Given the description of an element on the screen output the (x, y) to click on. 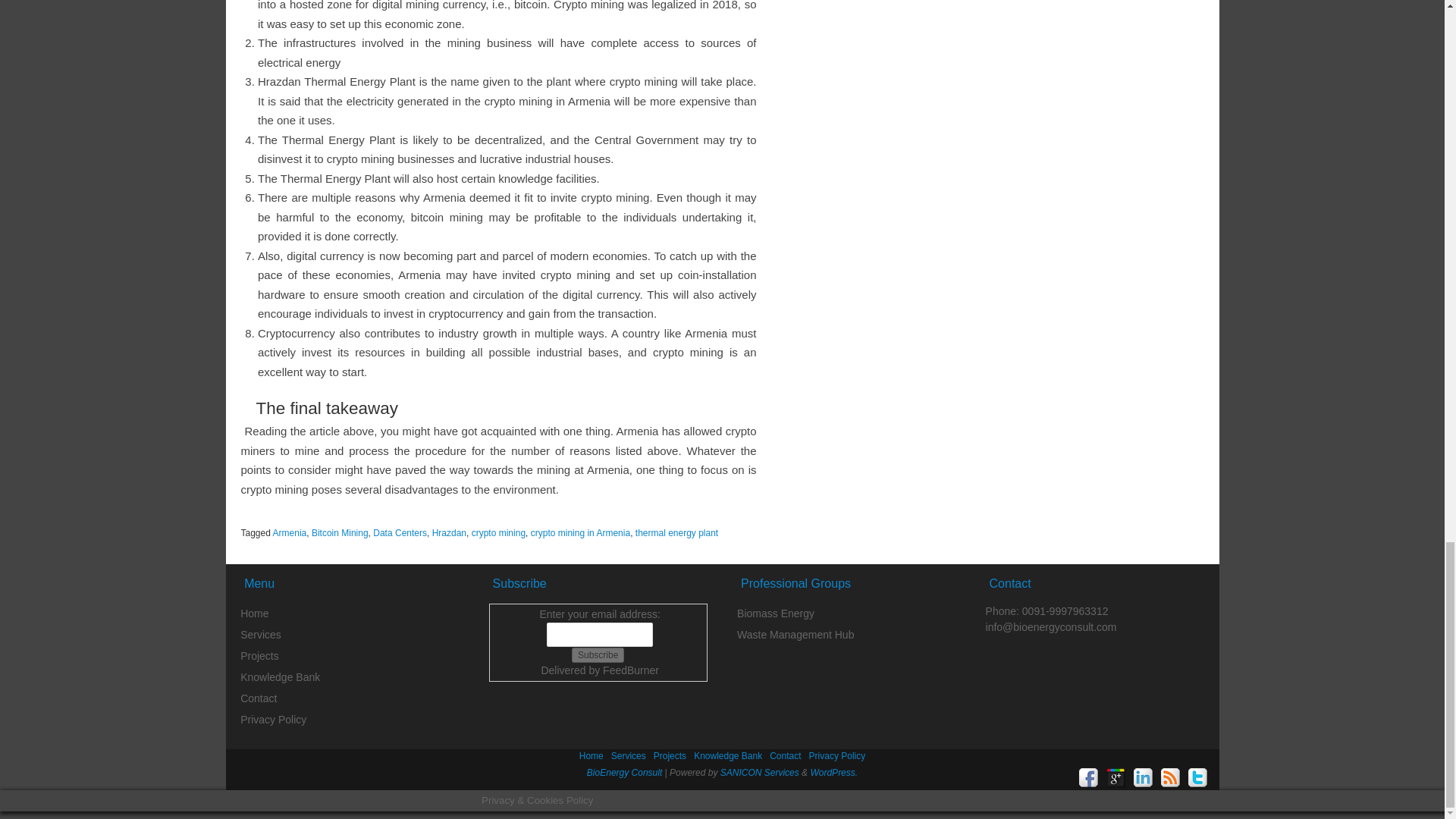
Armenia (290, 542)
Hrazdan (448, 542)
crypto mining (498, 542)
Data Centers (399, 542)
Subscribe (598, 664)
Bitcoin Mining (339, 542)
crypto mining in Armenia (580, 542)
thermal energy plant (675, 542)
